Given the description of an element on the screen output the (x, y) to click on. 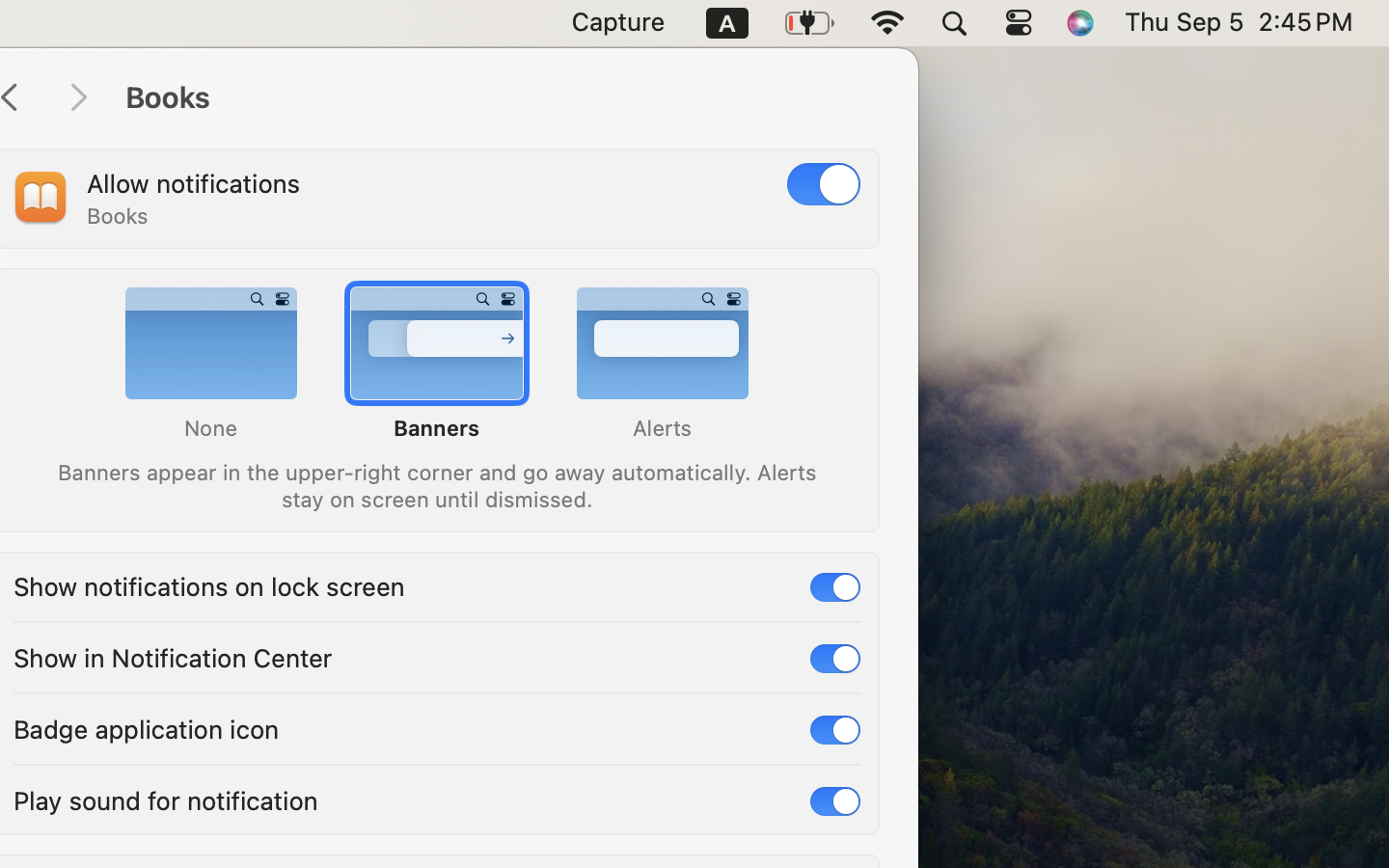
Banners appear in the upper-right corner and go away automatically. Alerts stay on screen until dismissed. Element type: AXStaticText (435, 484)
Allow notifications Element type: AXStaticText (193, 182)
Play sound for notification Element type: AXStaticText (165, 798)
Badge application icon Element type: AXStaticText (146, 726)
1 Element type: AXCheckBox (823, 183)
